Given the description of an element on the screen output the (x, y) to click on. 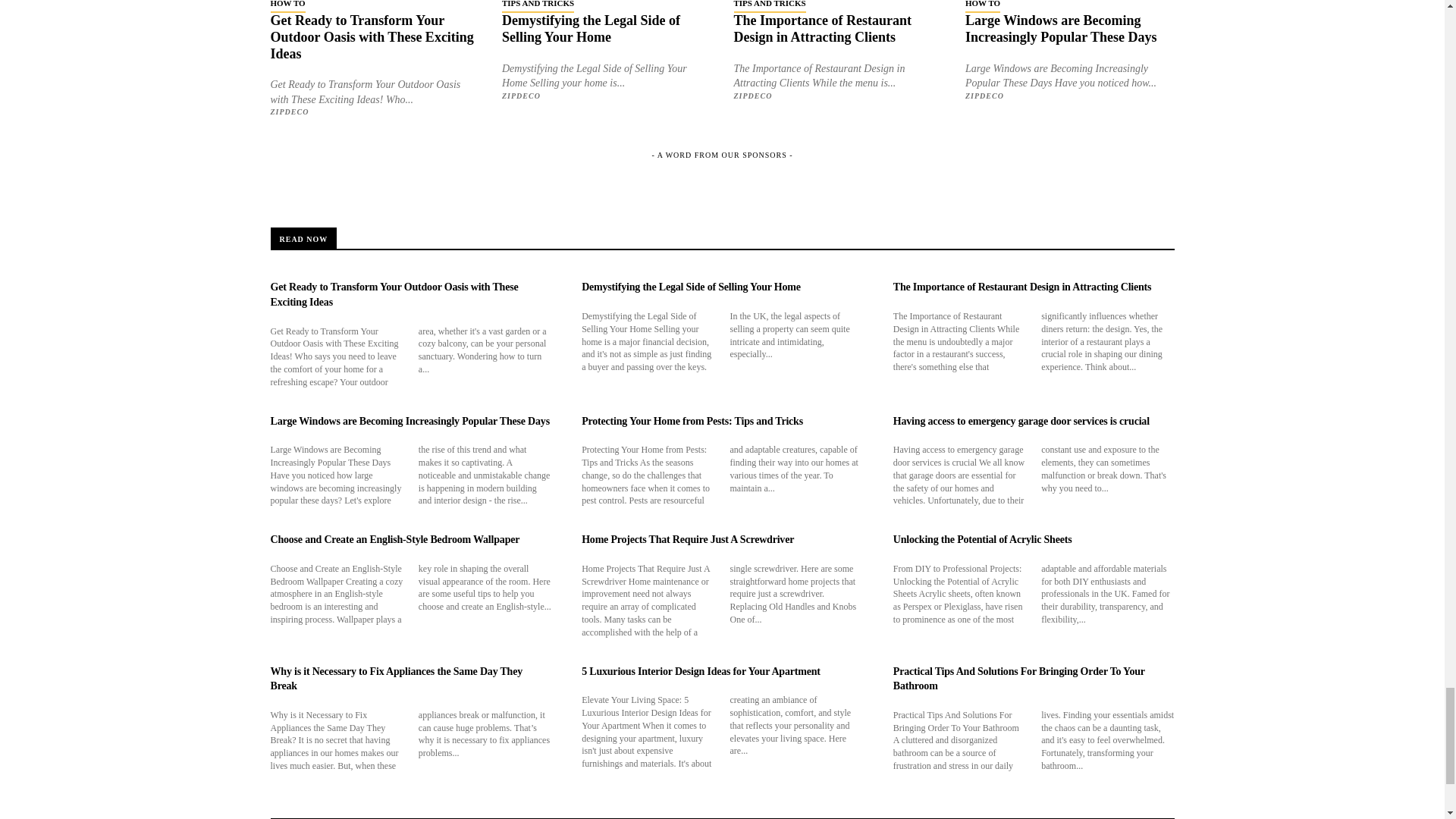
ZIPDECO (288, 111)
TIPS AND TRICKS (537, 6)
HOW TO (286, 6)
